Given the description of an element on the screen output the (x, y) to click on. 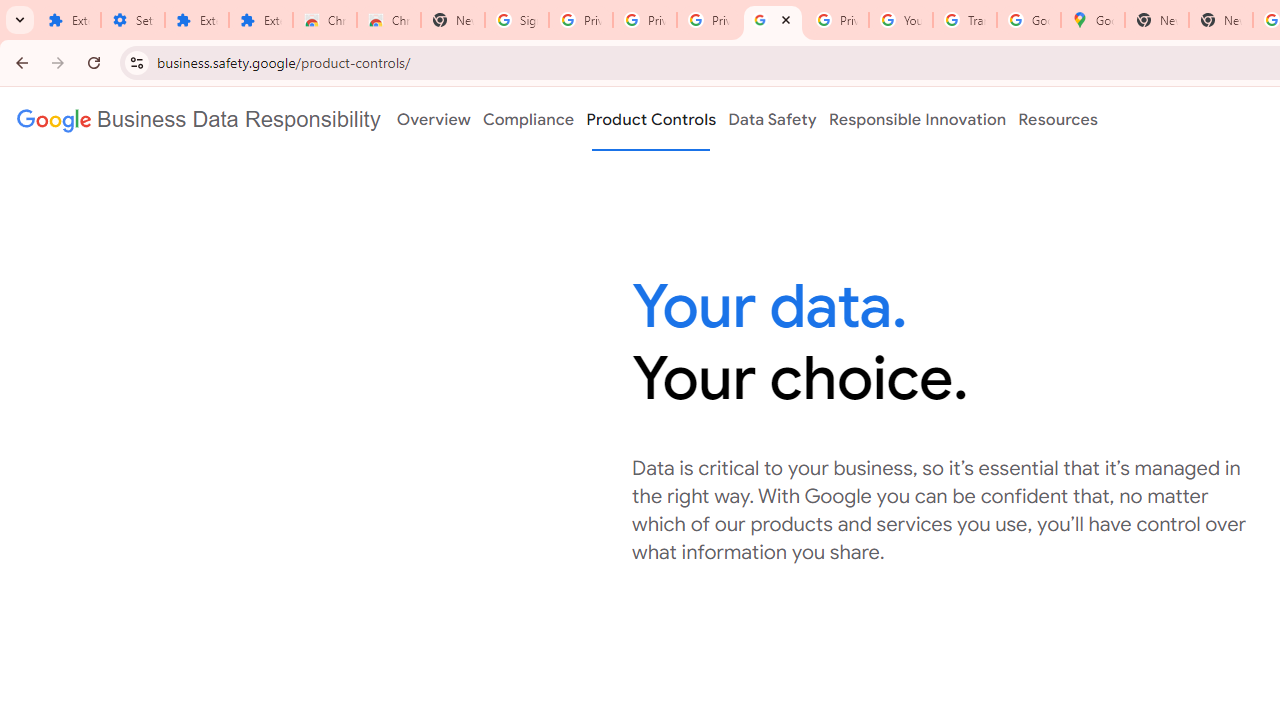
Responsible Innovation (916, 119)
Google logo (198, 119)
Google Maps (1093, 20)
Overview (433, 119)
YouTube (901, 20)
Resources (1058, 119)
Compliance (528, 119)
Extensions (261, 20)
Product Controls (651, 119)
Chrome Web Store - Themes (389, 20)
